Given the description of an element on the screen output the (x, y) to click on. 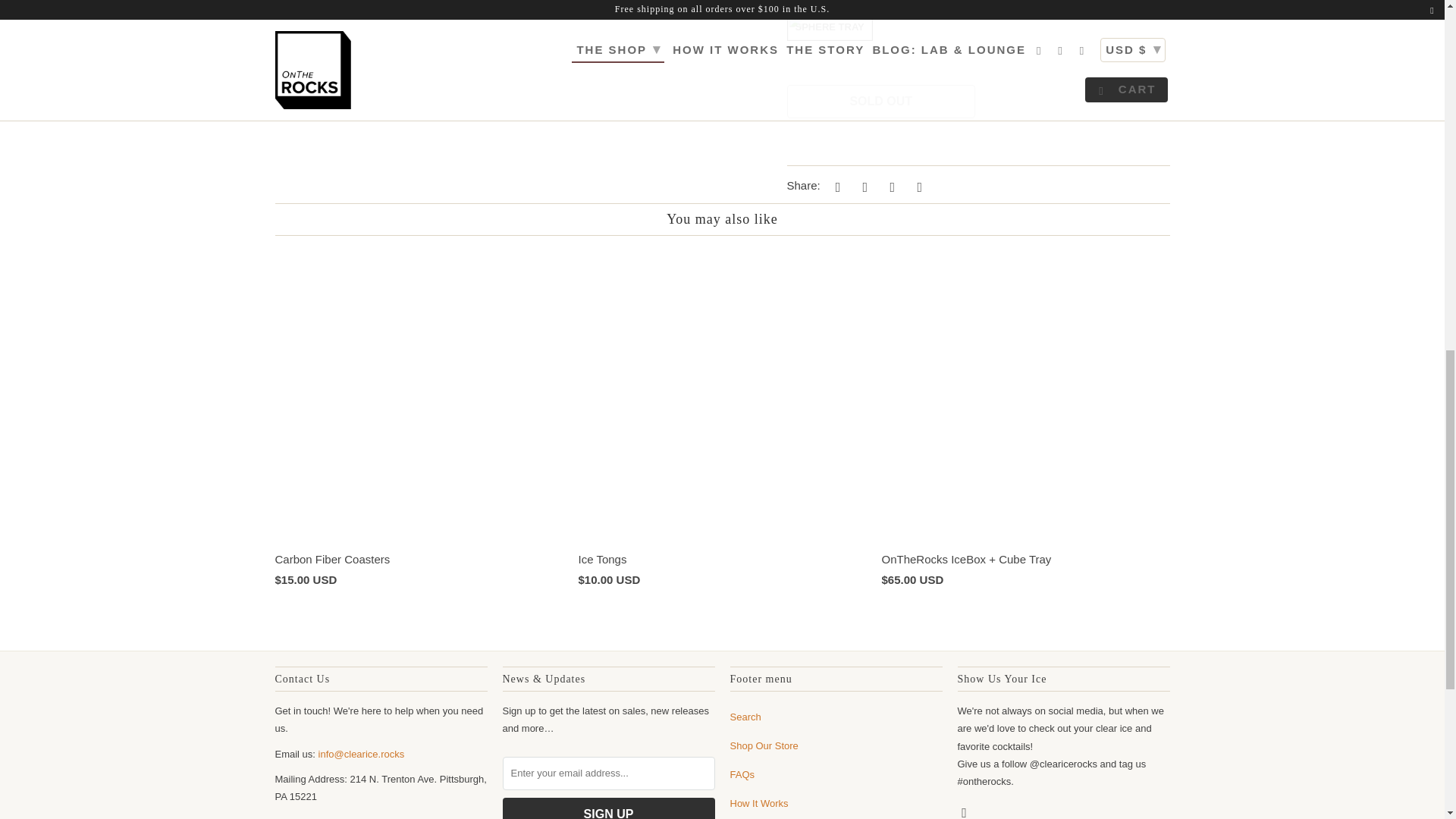
OnTheRocks on Instagram (965, 811)
Share this on Pinterest (889, 186)
Sign Up (608, 808)
Share this on Twitter (835, 186)
Share this on Facebook (862, 186)
Email this to a friend (917, 186)
